Given the description of an element on the screen output the (x, y) to click on. 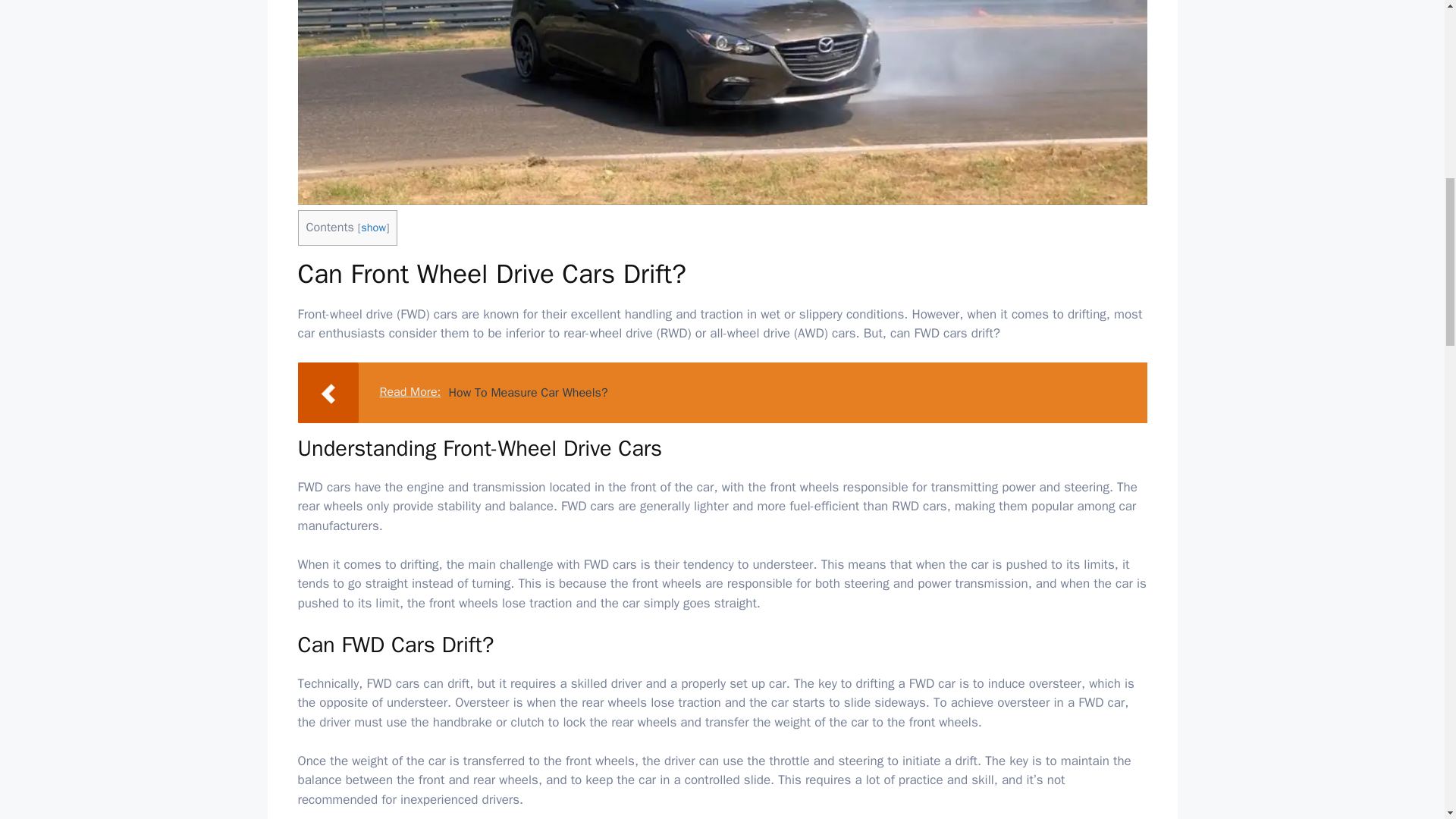
show (373, 227)
